Given the description of an element on the screen output the (x, y) to click on. 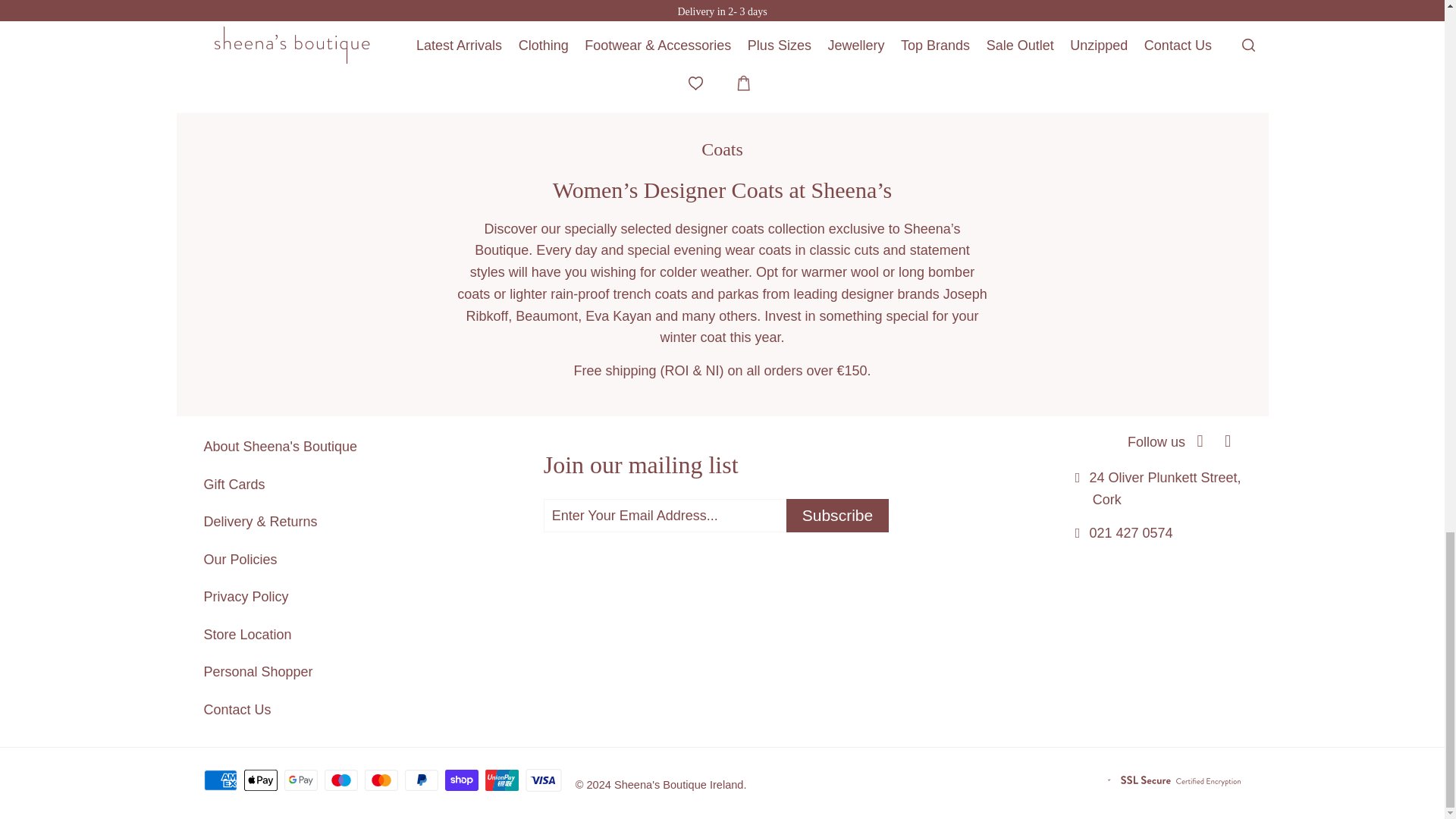
Apple Pay (262, 780)
American Express (221, 780)
Google Pay (301, 780)
Subscribe (837, 515)
Maestro (342, 780)
Union Pay (502, 780)
Joseph Ribkoff Coats (726, 304)
tel:021 427 0574 (1130, 532)
Sheena's Boutique Ireland on Facebook (1200, 441)
PayPal (422, 780)
Mastercard (383, 780)
Shop Pay (463, 780)
Sheena's Boutique Ireland on Instagram (1228, 441)
Visa (543, 780)
